Given the description of an element on the screen output the (x, y) to click on. 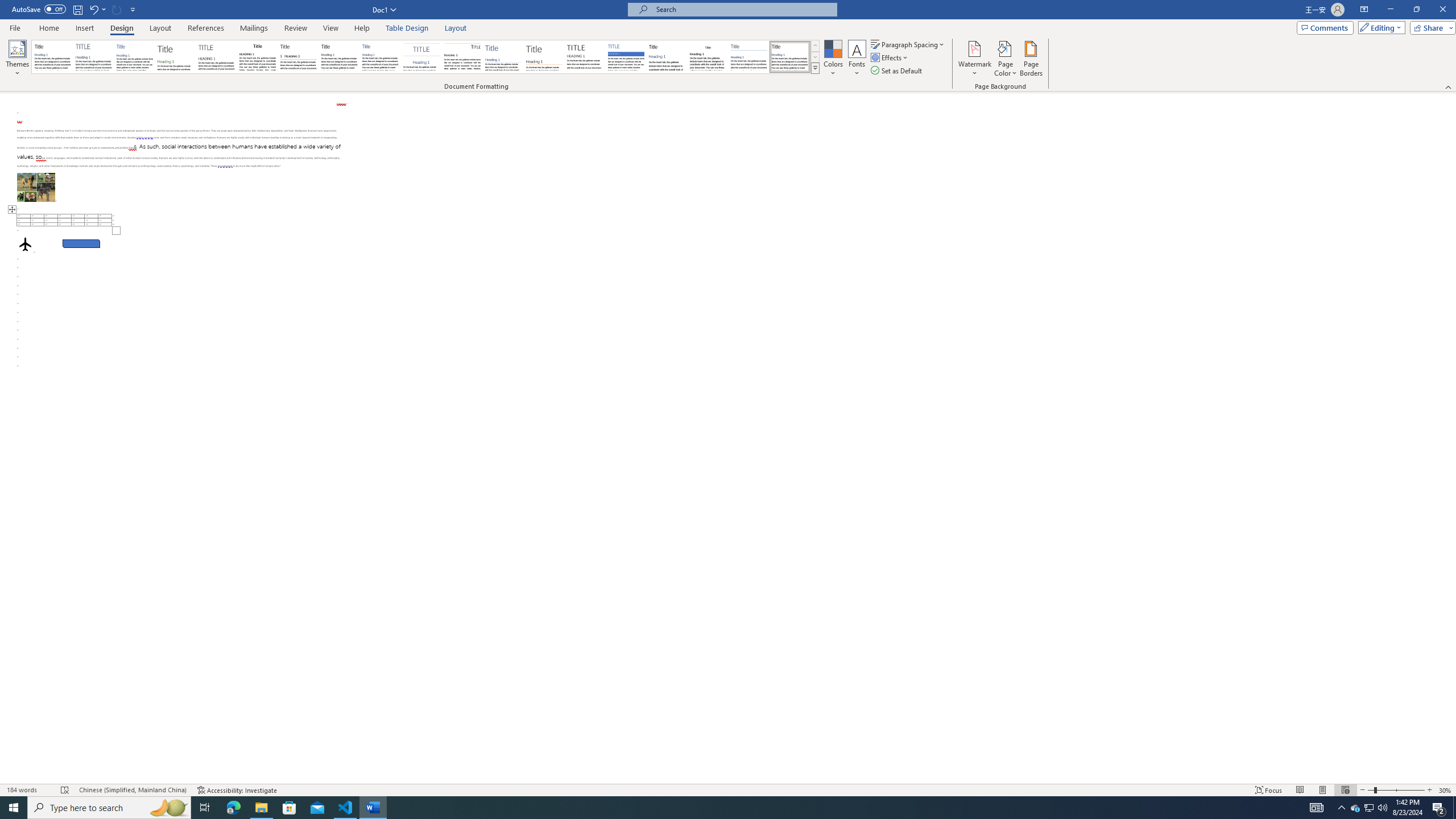
Page Color (1005, 58)
Rectangle: Diagonal Corners Snipped 2 (81, 243)
Black & White (Capitalized) (216, 56)
Black & White (Classic) (257, 56)
Undo Apply Quick Style Set (92, 9)
Lines (Distinctive) (462, 56)
Paragraph Spacing (908, 44)
